Given the description of an element on the screen output the (x, y) to click on. 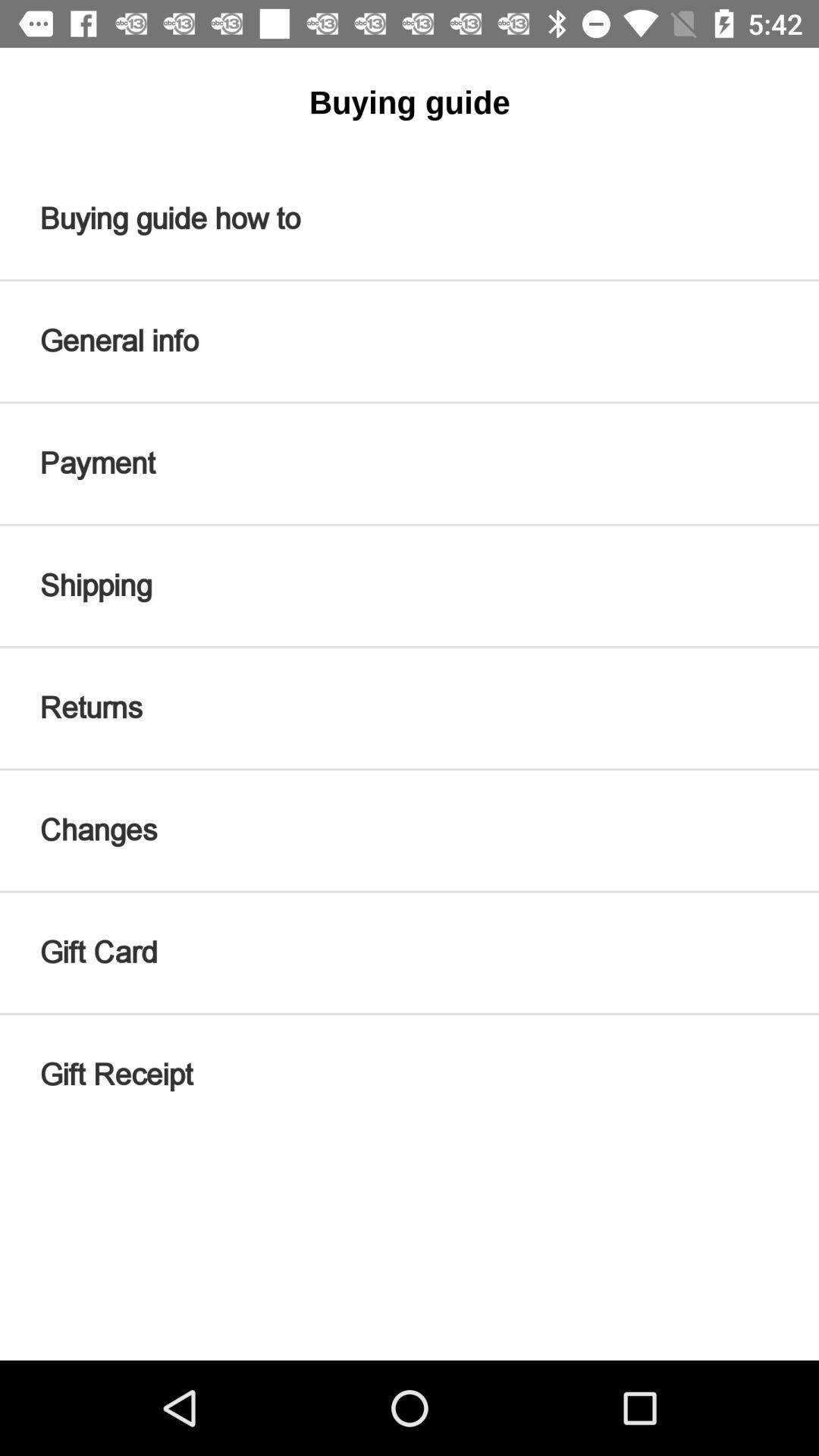
launch icon below changes item (409, 952)
